Given the description of an element on the screen output the (x, y) to click on. 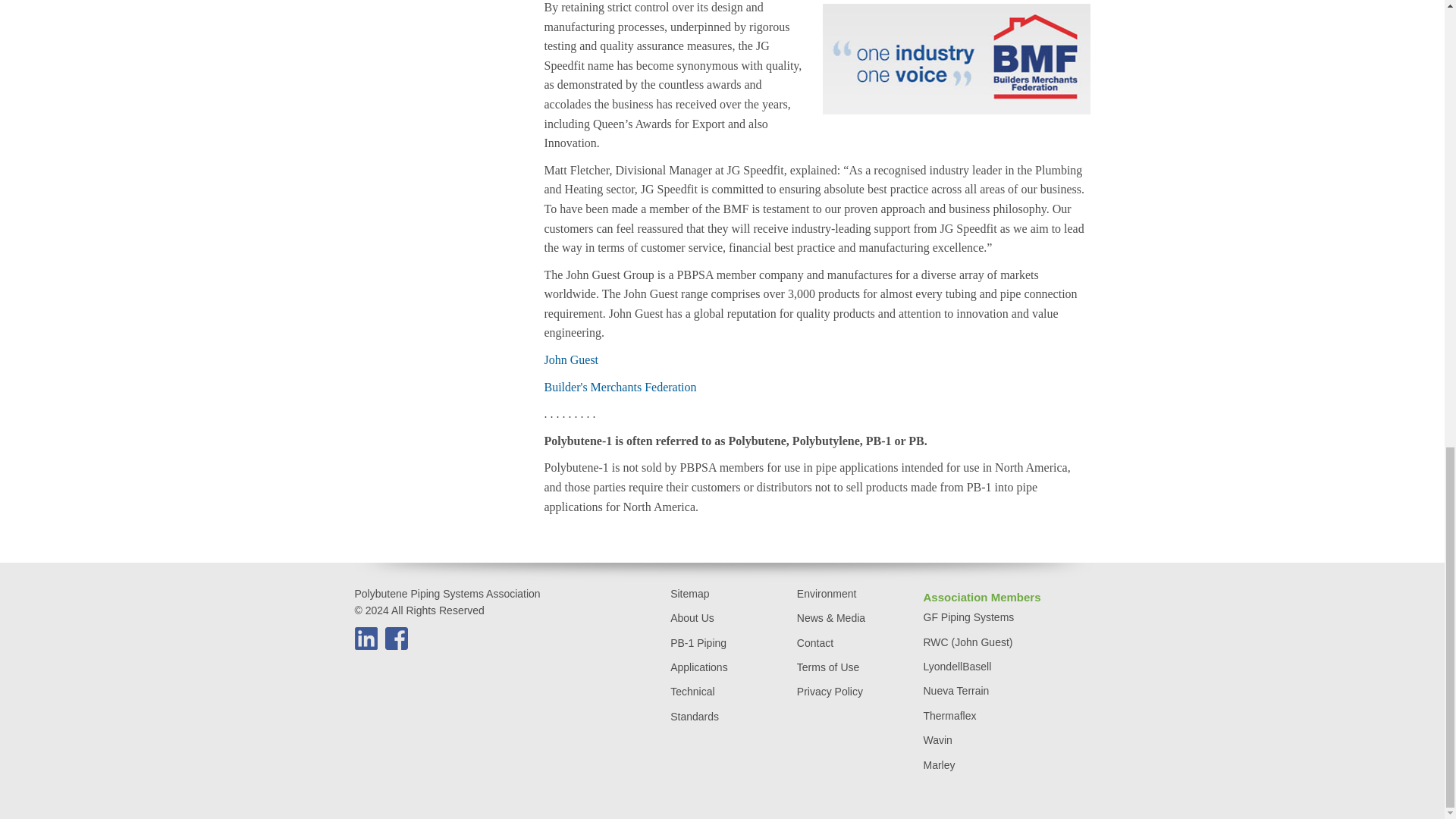
Facebook (396, 638)
Linkedin (366, 638)
